Given the description of an element on the screen output the (x, y) to click on. 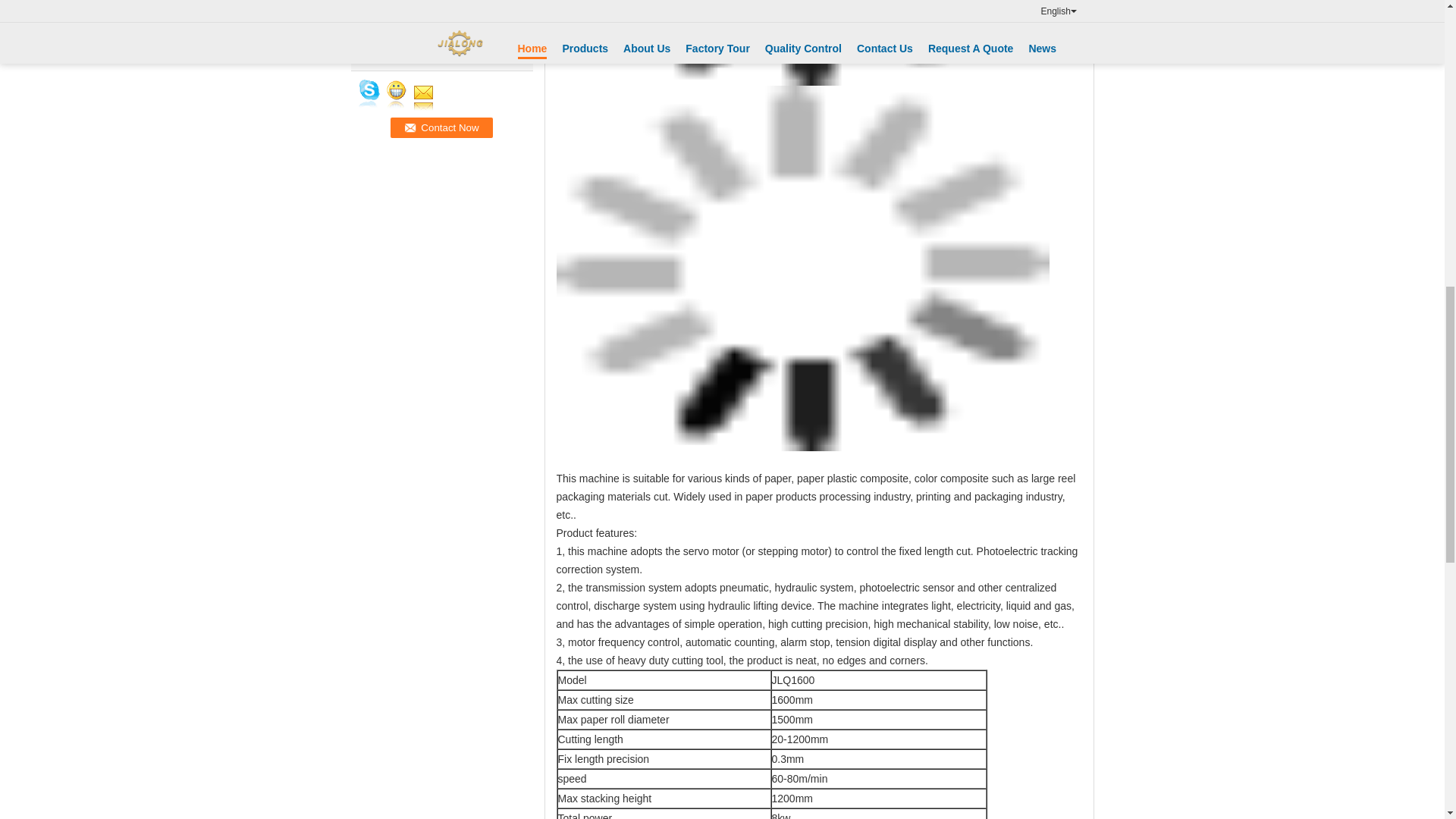
Contact Now (441, 127)
